Given the description of an element on the screen output the (x, y) to click on. 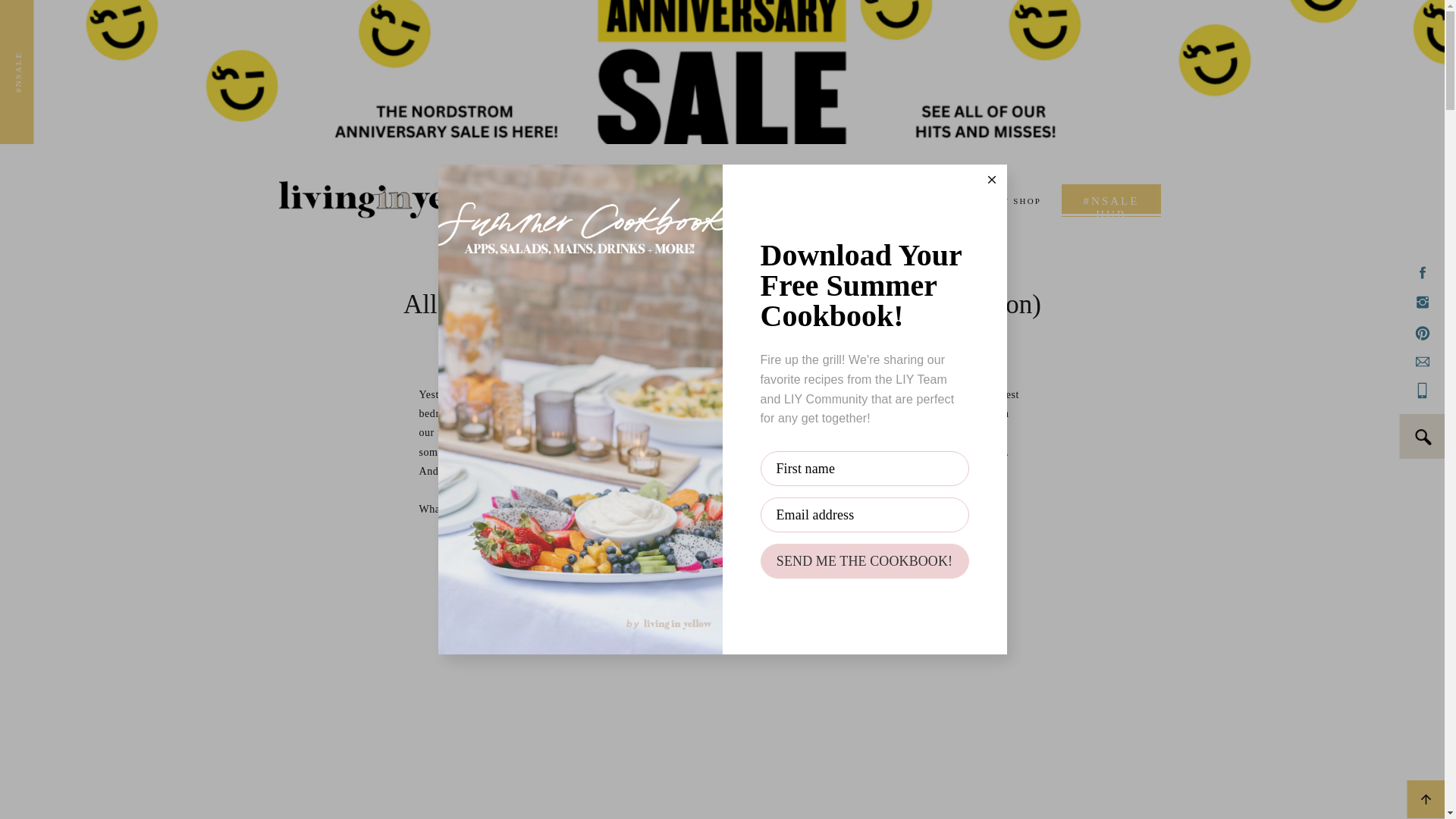
TRAVEL (722, 199)
DAILY LOOKS (938, 199)
ABOUT (570, 199)
AMAZON (782, 199)
TRAVEL (890, 19)
LIFE (674, 199)
DAILY LOOKS (1144, 21)
LIY LITTLES (856, 199)
LIY SHOP (1015, 199)
STYLE (626, 199)
